Given the description of an element on the screen output the (x, y) to click on. 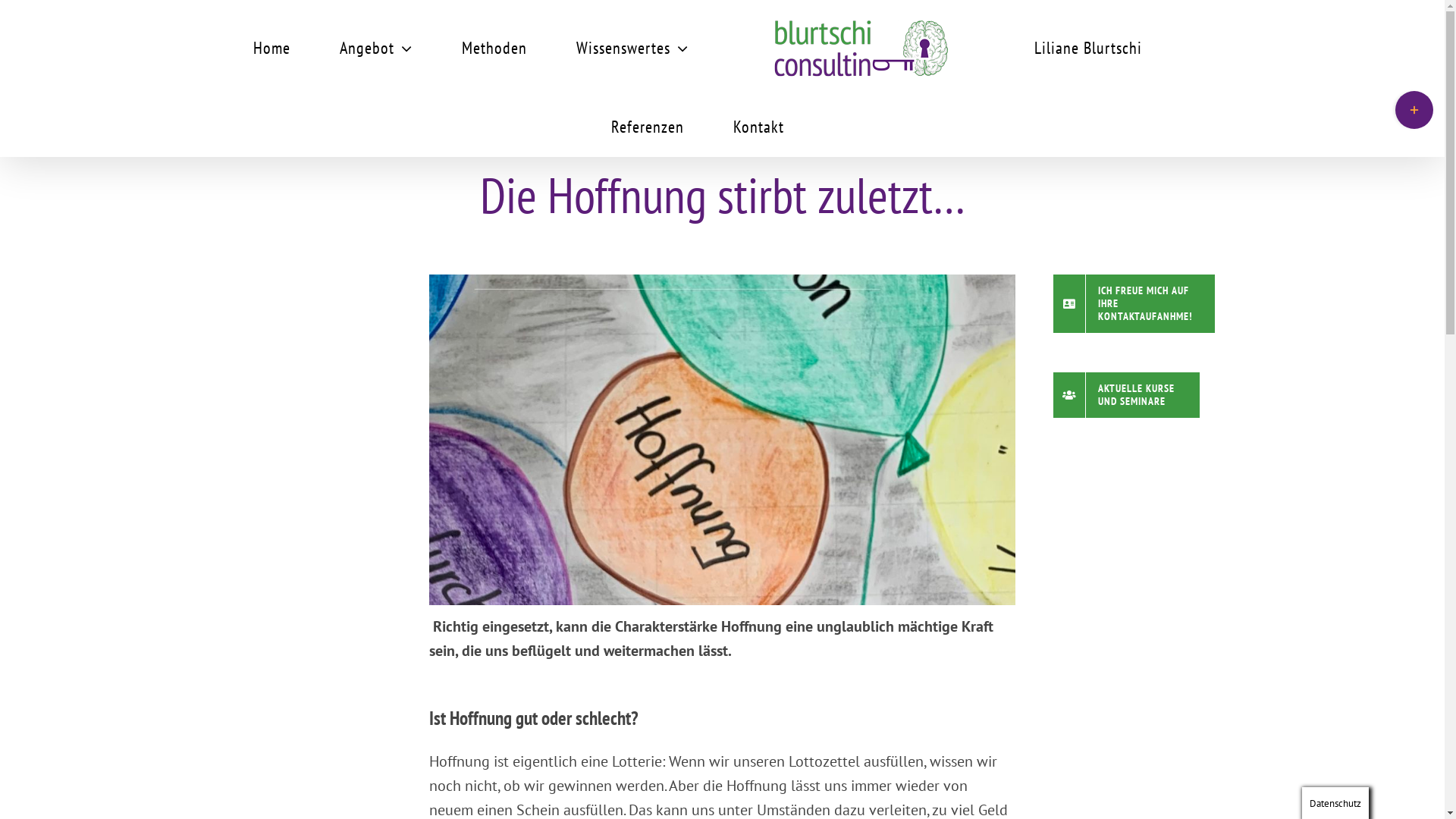
Angebot Element type: text (375, 46)
Toggle Sliding Bar Area Element type: text (1414, 109)
ICH FREUE MICH AUF IHRE KONTAKTAUFANHME! Element type: text (1133, 303)
Liliane Blurtschi Element type: text (1088, 46)
Wissenswertes Element type: text (632, 46)
AKTUELLE KURSE UND SEMINARE Element type: text (1126, 394)
Referenzen Element type: text (647, 124)
Kontakt Element type: text (758, 124)
Methoden Element type: text (494, 46)
Home Element type: text (271, 46)
